Given the description of an element on the screen output the (x, y) to click on. 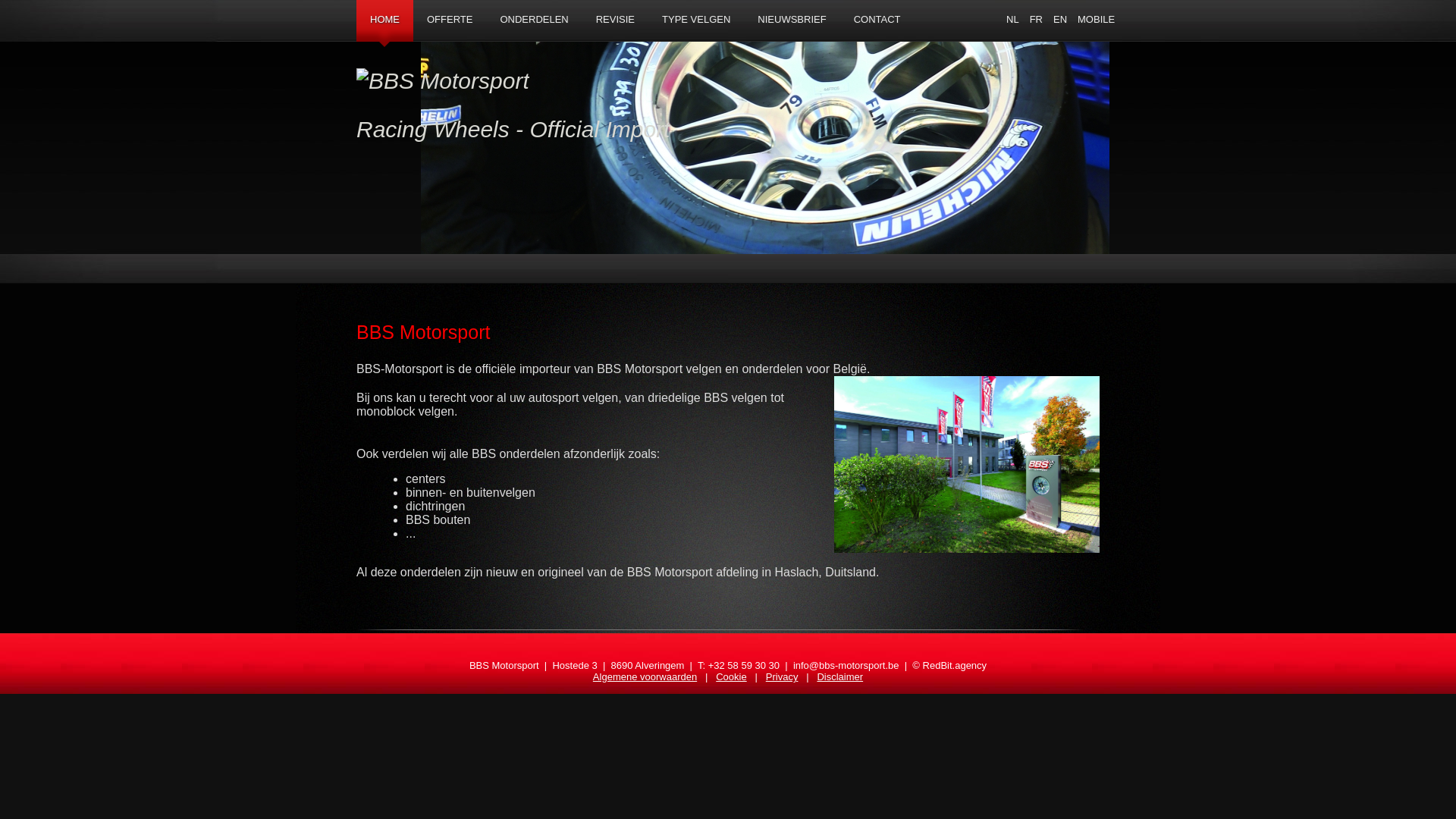
Disclaimer Element type: text (839, 676)
TYPE VELGEN Element type: text (695, 19)
HOME Element type: text (384, 23)
Algemene voorwaarden Element type: text (644, 676)
Privacy Element type: text (781, 676)
CONTACT Element type: text (877, 19)
Cookie Element type: text (730, 676)
ONDERDELEN Element type: text (533, 19)
REVISIE Element type: text (615, 19)
NIEUWSBRIEF Element type: text (791, 19)
FR Element type: text (1036, 19)
OFFERTE Element type: text (449, 19)
info@bbs-motorsport.be Element type: text (846, 665)
EN Element type: text (1060, 19)
NL Element type: text (1012, 19)
MOBILE Element type: text (1096, 19)
RedBit.agency Element type: text (954, 665)
